Given the description of an element on the screen output the (x, y) to click on. 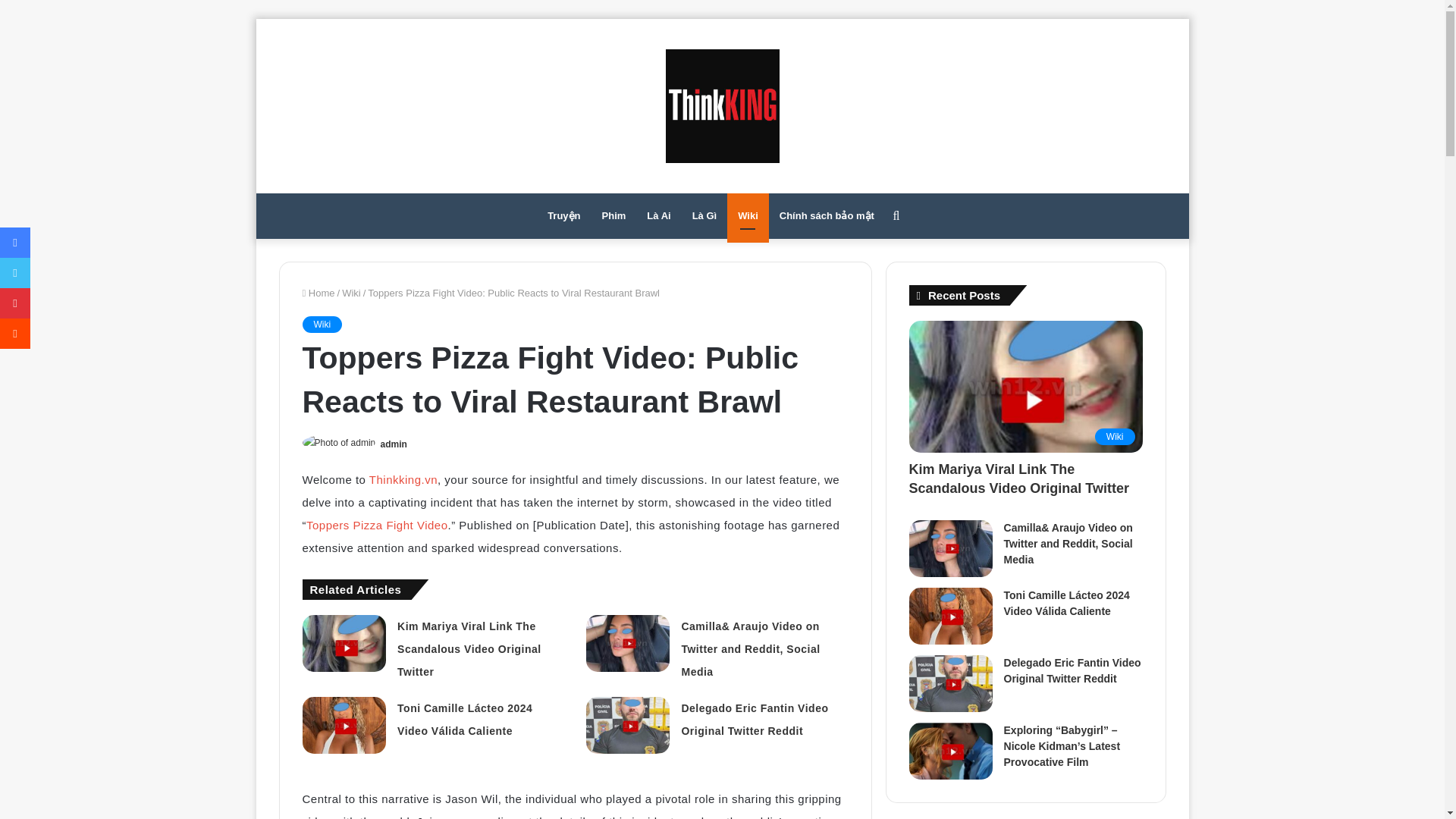
Delegado Eric Fantin Video Original Twitter Reddit (754, 719)
Wiki (321, 324)
Toppers Pizza Fight Video (376, 524)
Home (317, 292)
admin (393, 443)
admin (393, 443)
Kim Mariya Viral Link The Scandalous Video Original Twitter (469, 648)
Wiki (351, 292)
Thinkking.vn (401, 479)
Facebook (15, 242)
